Given the description of an element on the screen output the (x, y) to click on. 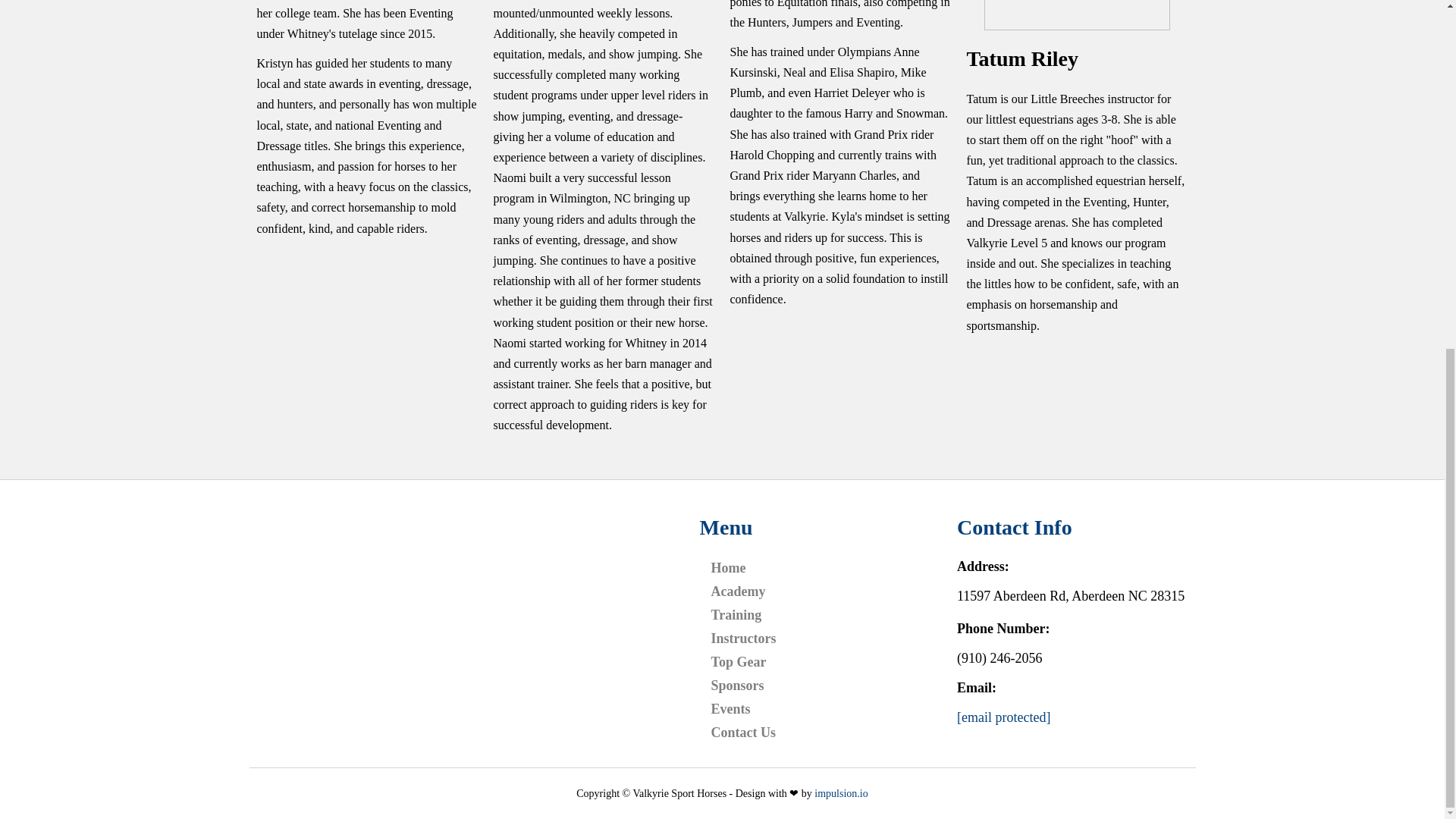
Contact Us (747, 736)
Home (732, 569)
Training (740, 618)
Sponsors (741, 689)
Instructors (747, 642)
Events (735, 712)
Academy (742, 595)
impulsion.io (840, 793)
Top Gear (743, 666)
